Given the description of an element on the screen output the (x, y) to click on. 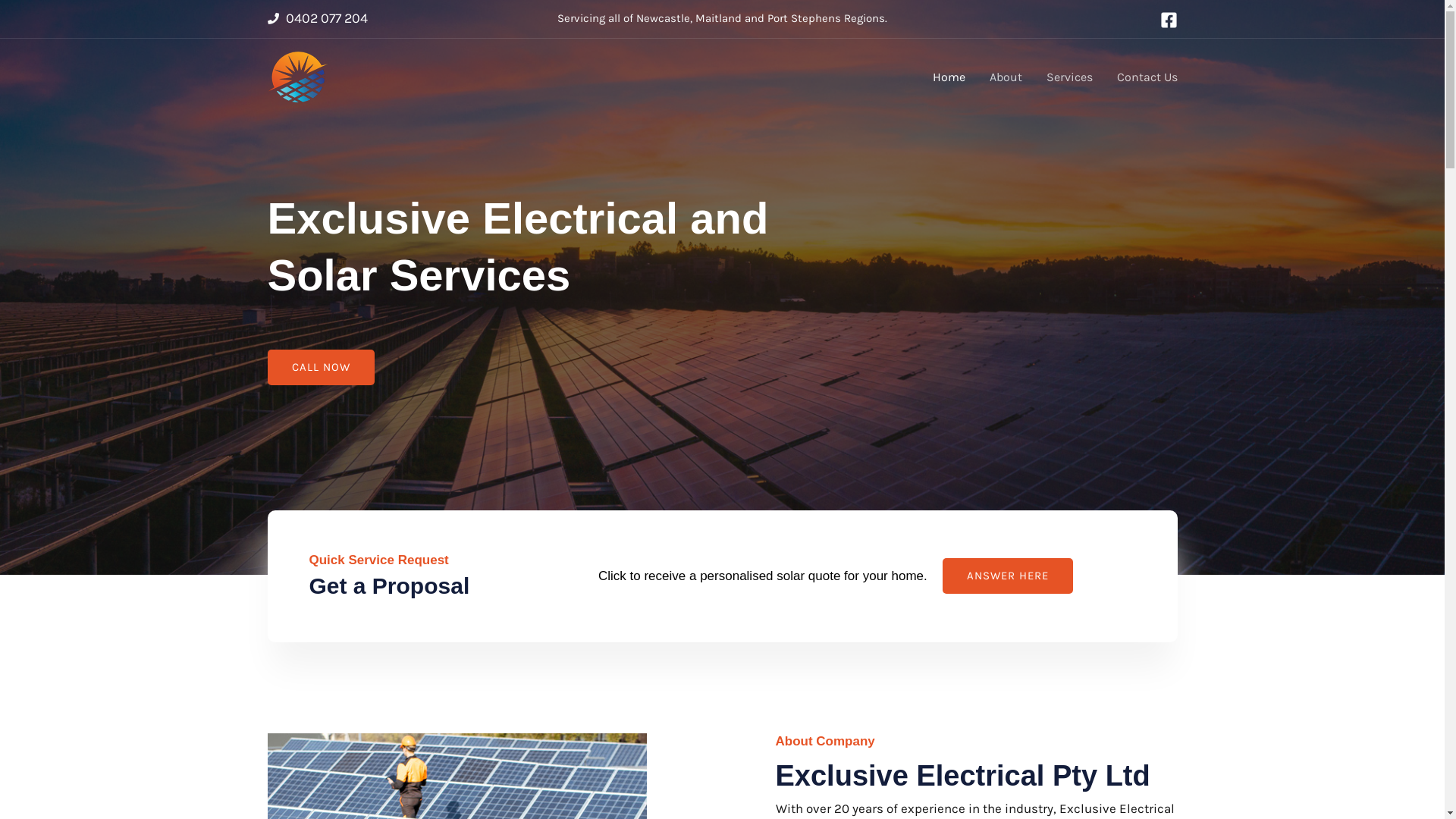
About Element type: text (1004, 77)
Contact Us Element type: text (1140, 77)
Home Element type: text (948, 77)
Services Element type: text (1069, 77)
ANSWER HERE Element type: text (1007, 575)
0402 077 204 Element type: text (326, 17)
CALL NOW Element type: text (319, 367)
